Given the description of an element on the screen output the (x, y) to click on. 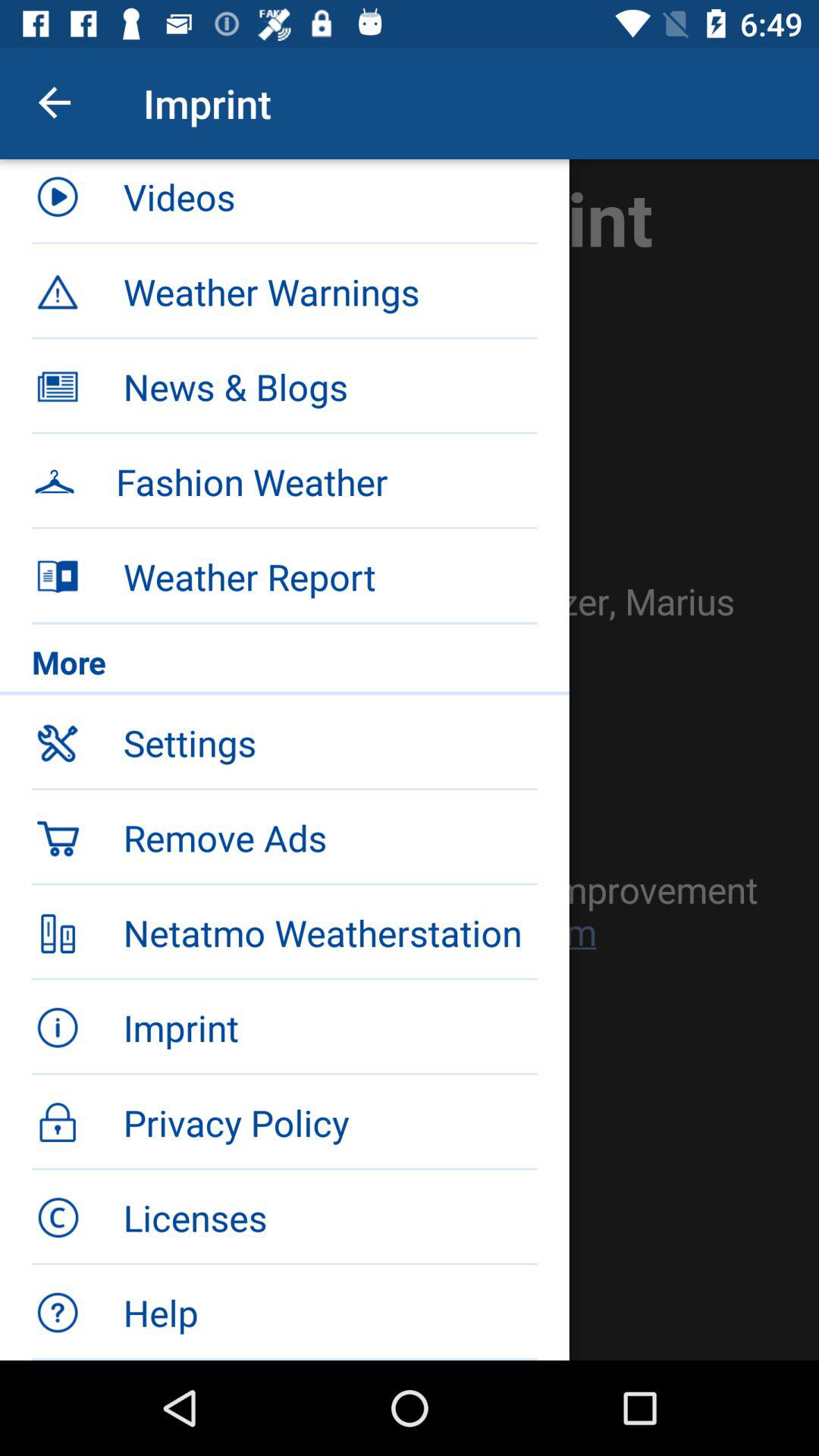
click the item below news & blogs icon (284, 479)
